Given the description of an element on the screen output the (x, y) to click on. 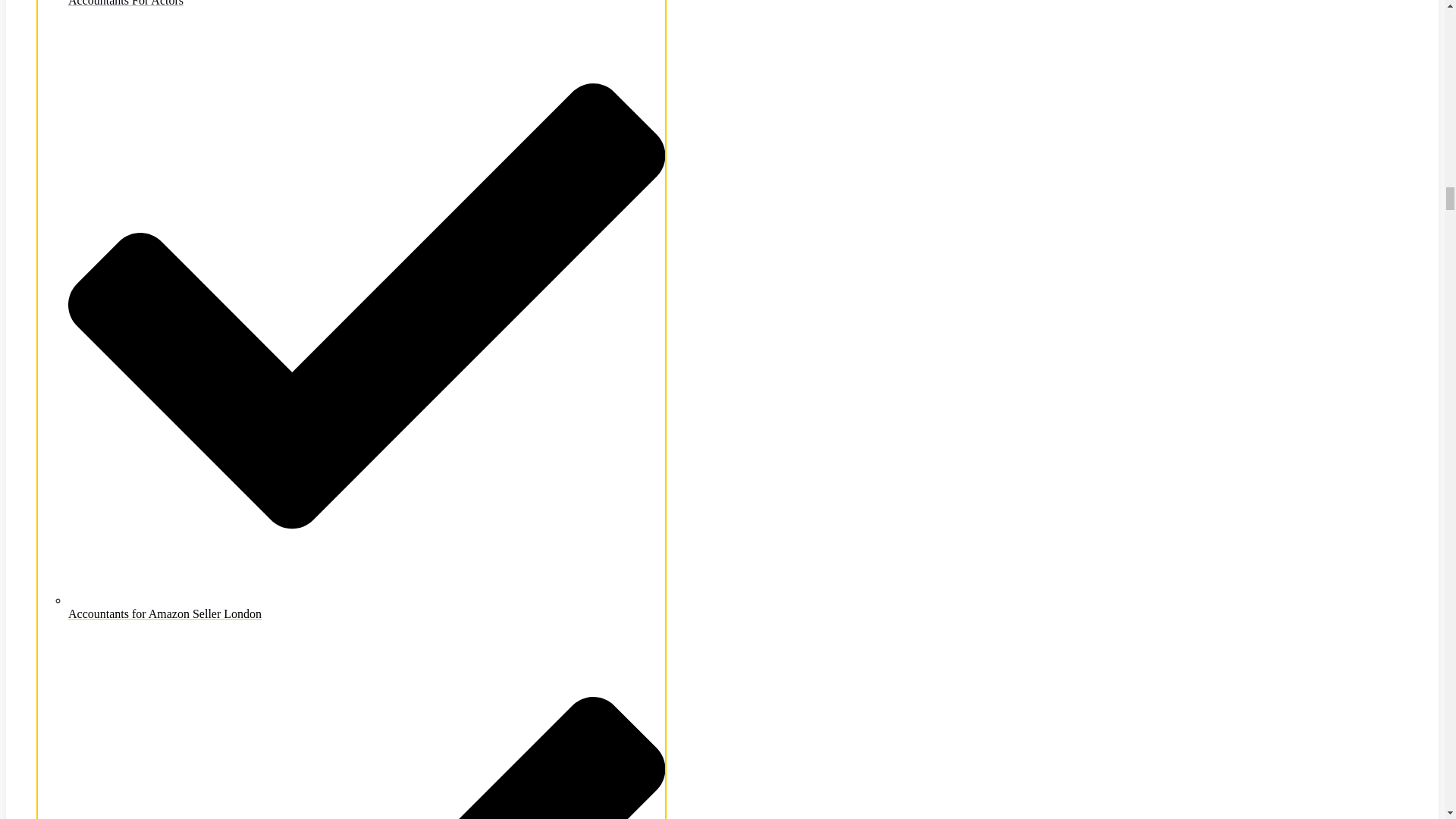
Accountants for Amazon Seller London (366, 606)
